Given the description of an element on the screen output the (x, y) to click on. 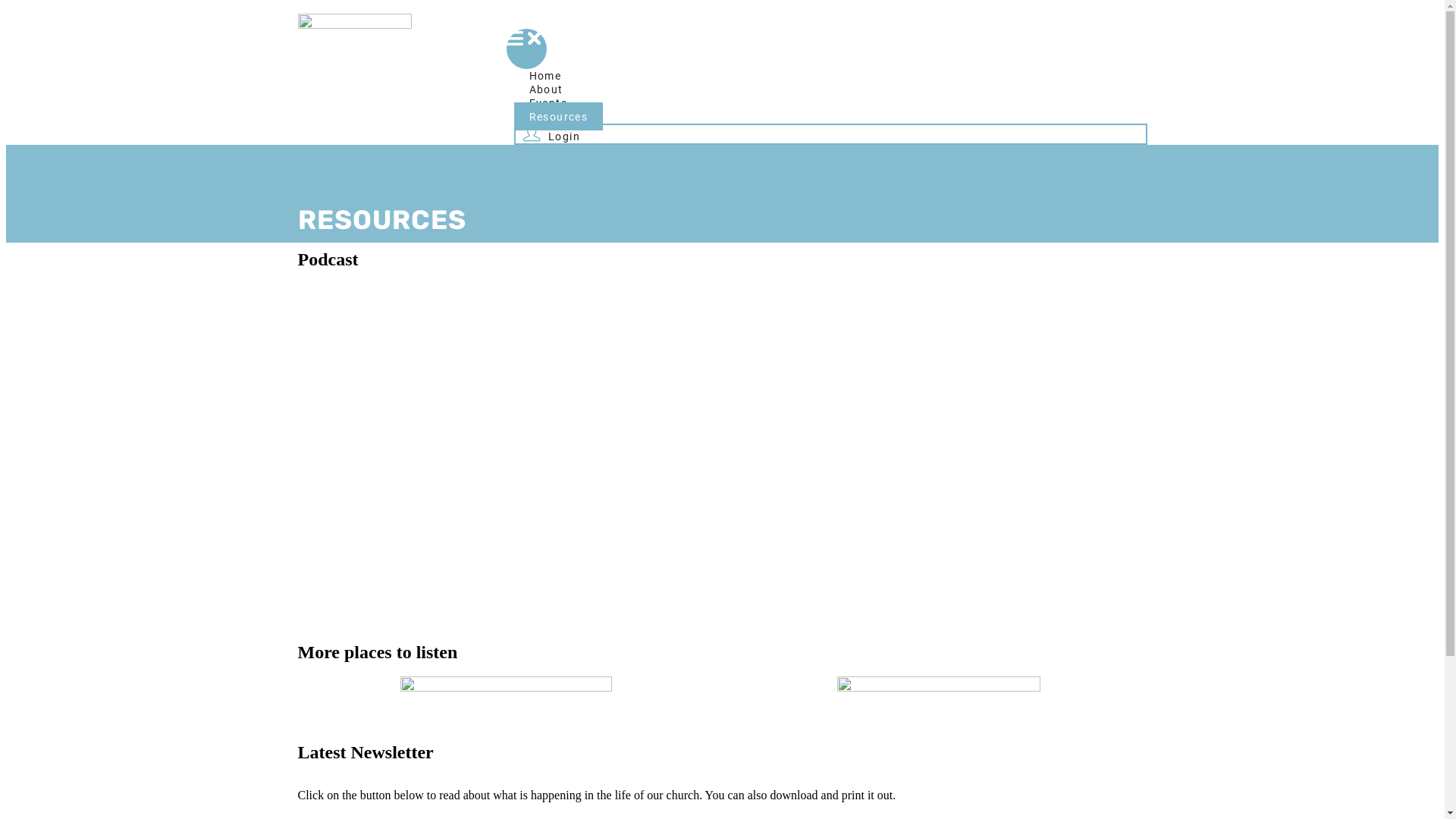
Resources Element type: text (558, 116)
Events Element type: text (548, 102)
About Element type: text (546, 89)
Login Element type: text (551, 132)
Home Element type: text (545, 75)
